Given the description of an element on the screen output the (x, y) to click on. 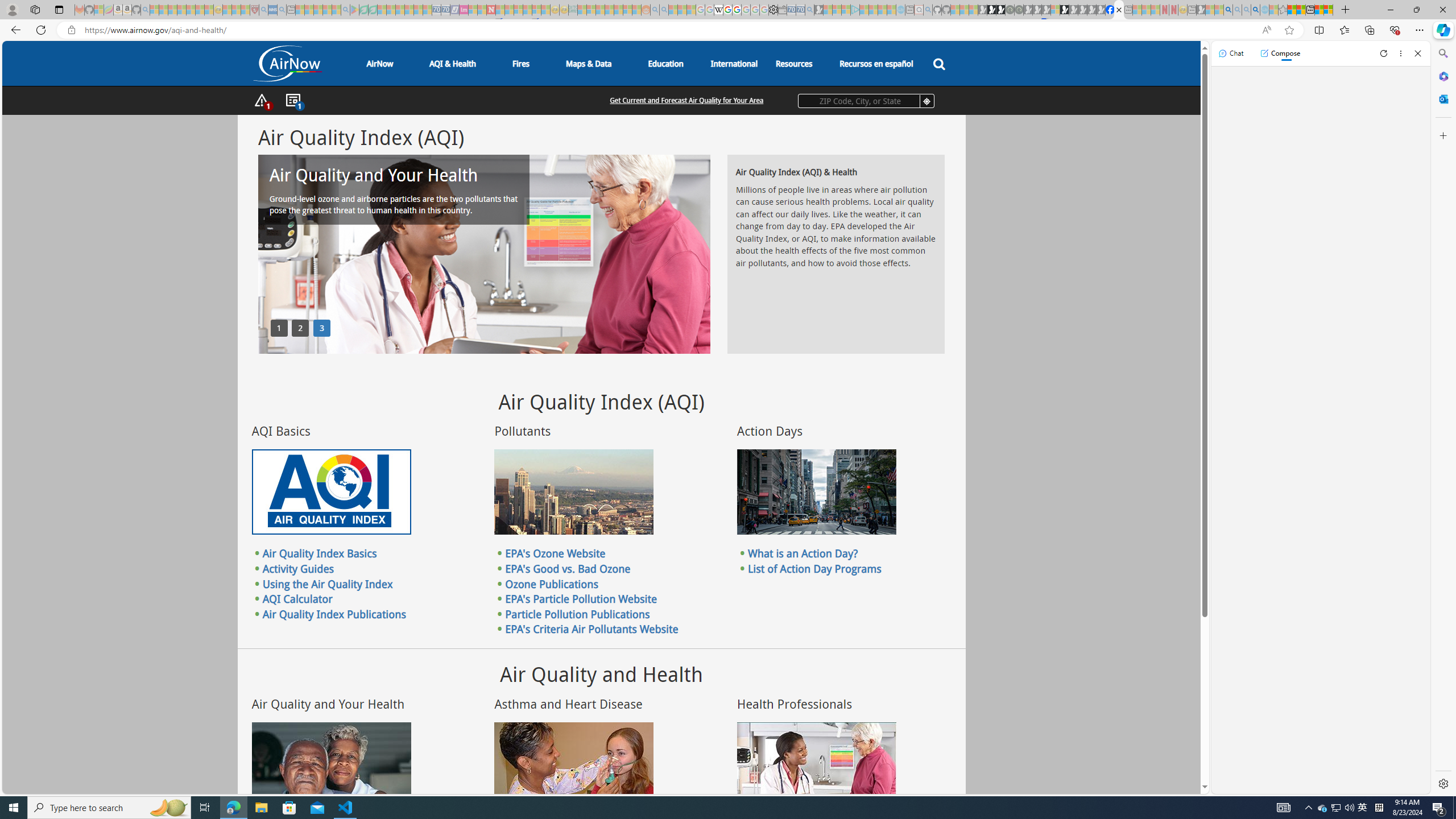
Privacy Help Center - Policies Help (726, 9)
Play Zoo Boom in your browser | Games from Microsoft Start (991, 9)
Air Quality and Your Health (330, 764)
1 (279, 327)
What is an Action Day? (802, 553)
